Given the description of an element on the screen output the (x, y) to click on. 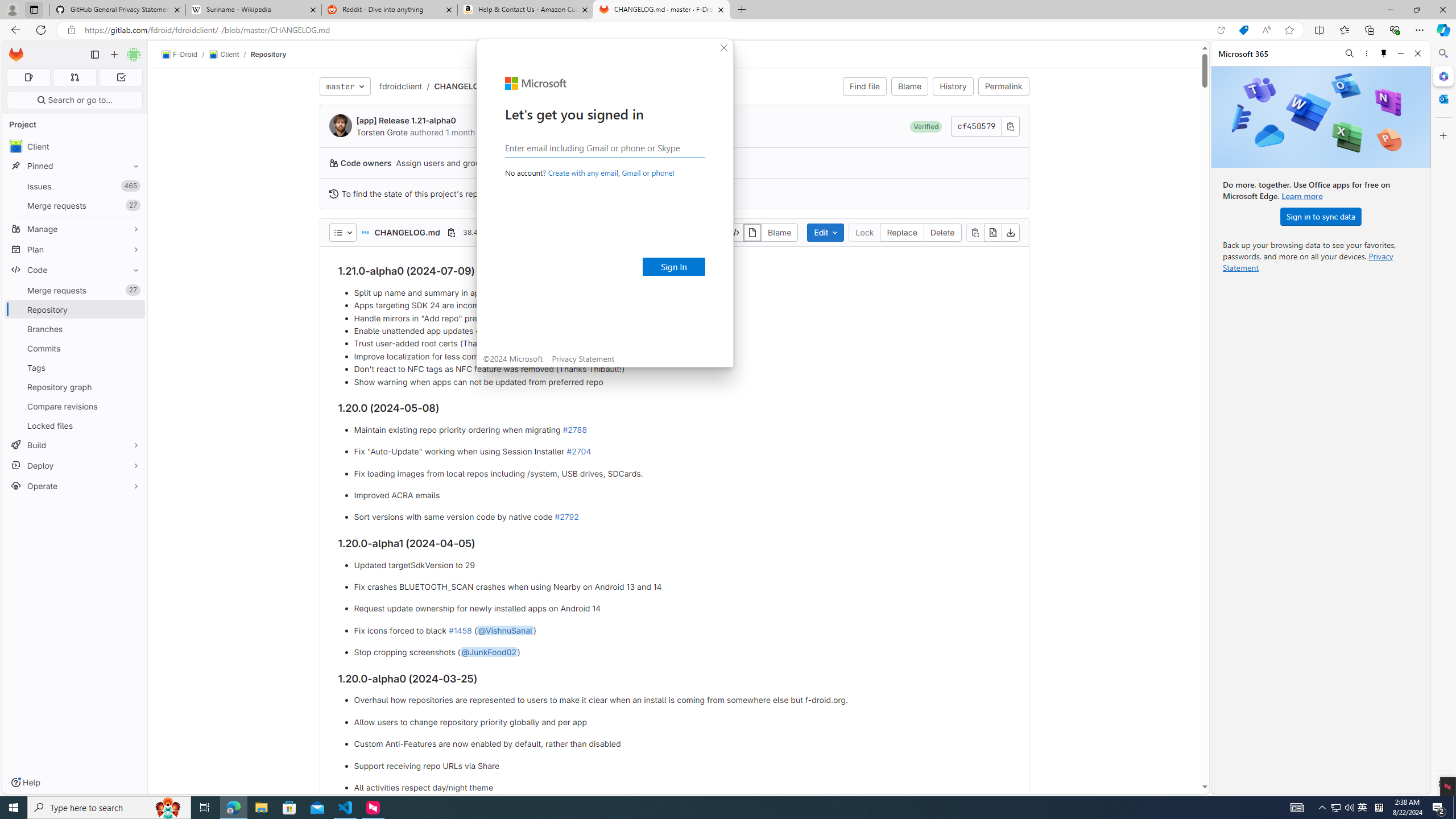
Copy file contents (974, 232)
Skip to main content (13, 49)
Permalink (1002, 85)
Pin Repository graph (132, 386)
More options (1366, 53)
Collections (1369, 29)
#1458 (459, 629)
Favorites (1335, 807)
@JunkFood02 (1344, 29)
Privacy Statement (488, 652)
Split screen (582, 357)
